Given the description of an element on the screen output the (x, y) to click on. 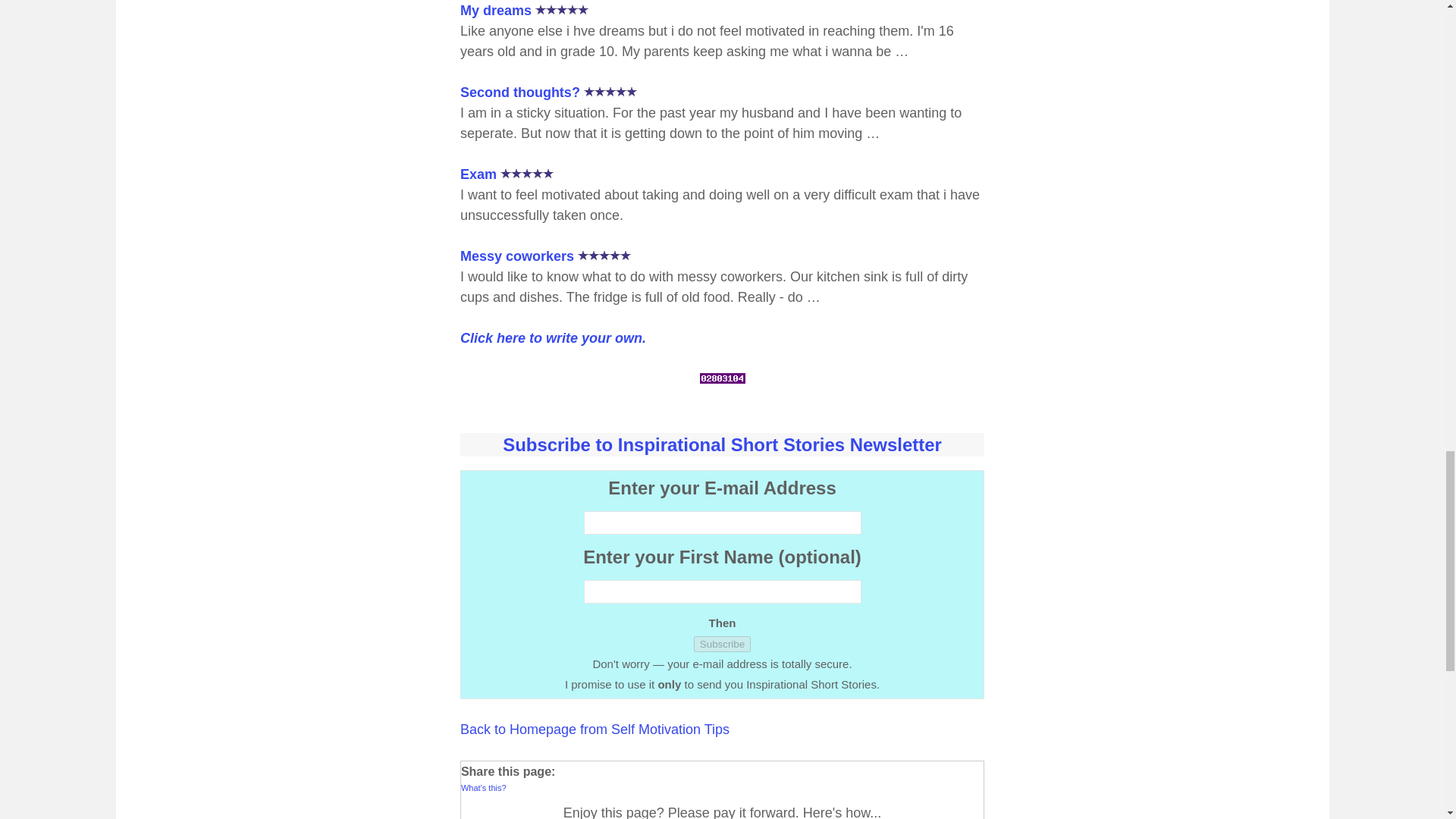
Subscribe (722, 643)
